Given the description of an element on the screen output the (x, y) to click on. 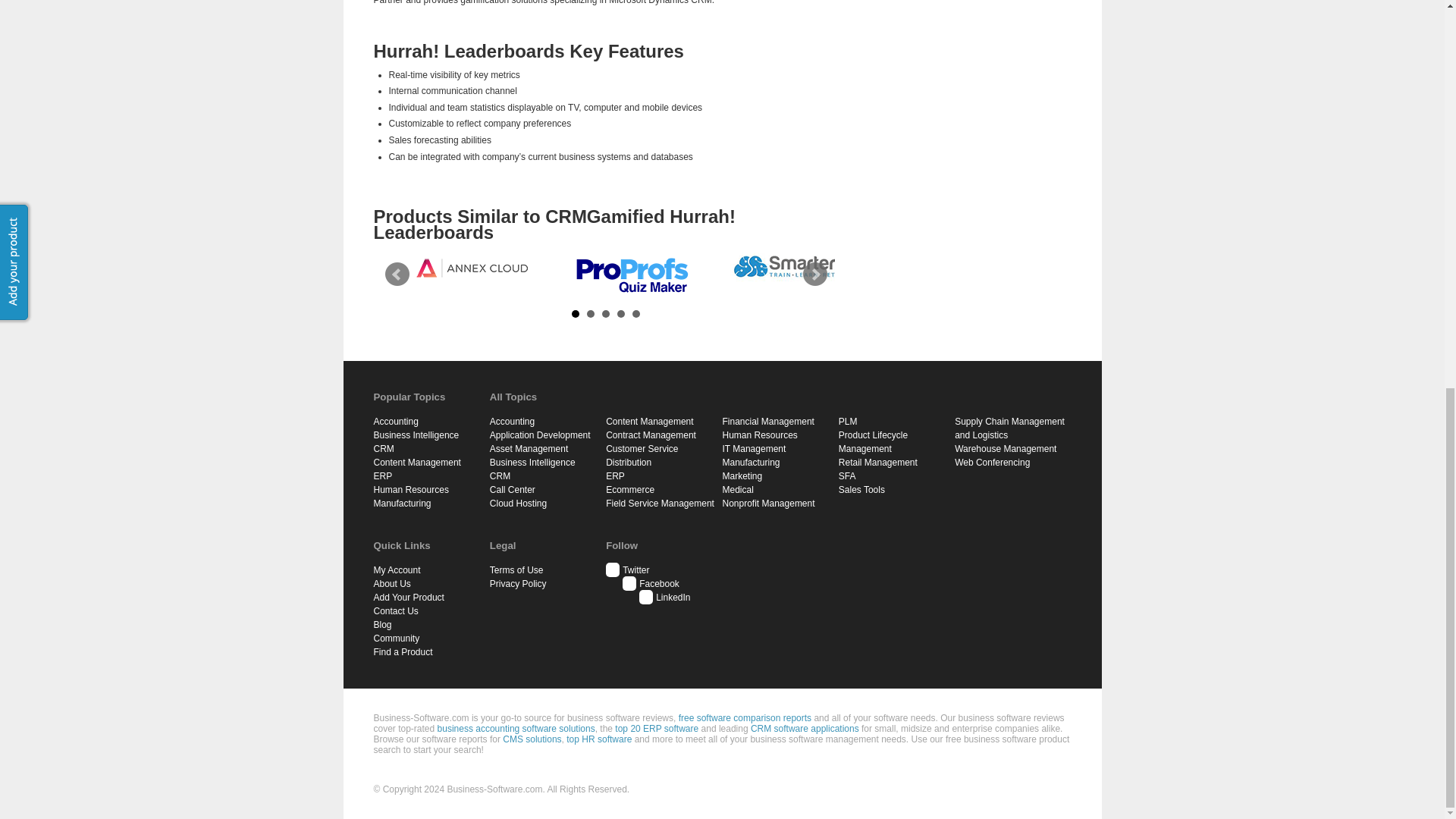
Neovation Corporation SmarterU LMS (790, 266)
ProProfs Quiz Maker (631, 274)
ProProfs Quiz Maker (630, 274)
RippleHire (312, 266)
Annex Cloud Customer Loyalty Cloud (472, 267)
Neovation Corporation SmarterU LMS (789, 266)
Annex Cloud Customer Loyalty Cloud (471, 267)
